Given the description of an element on the screen output the (x, y) to click on. 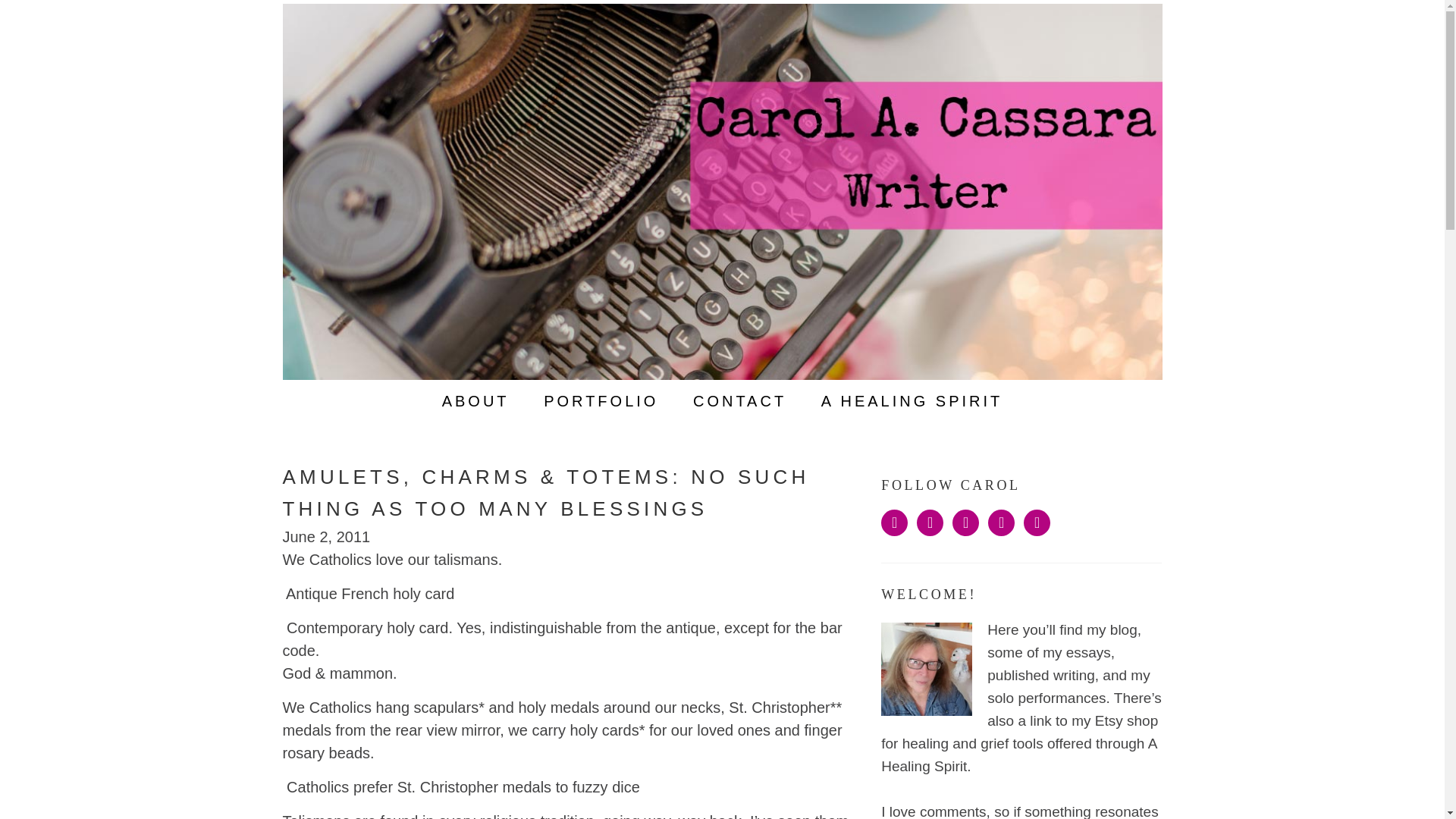
ABOUT (475, 401)
PORTFOLIO (600, 401)
CONTACT (740, 401)
A HEALING SPIRIT (911, 401)
